Given the description of an element on the screen output the (x, y) to click on. 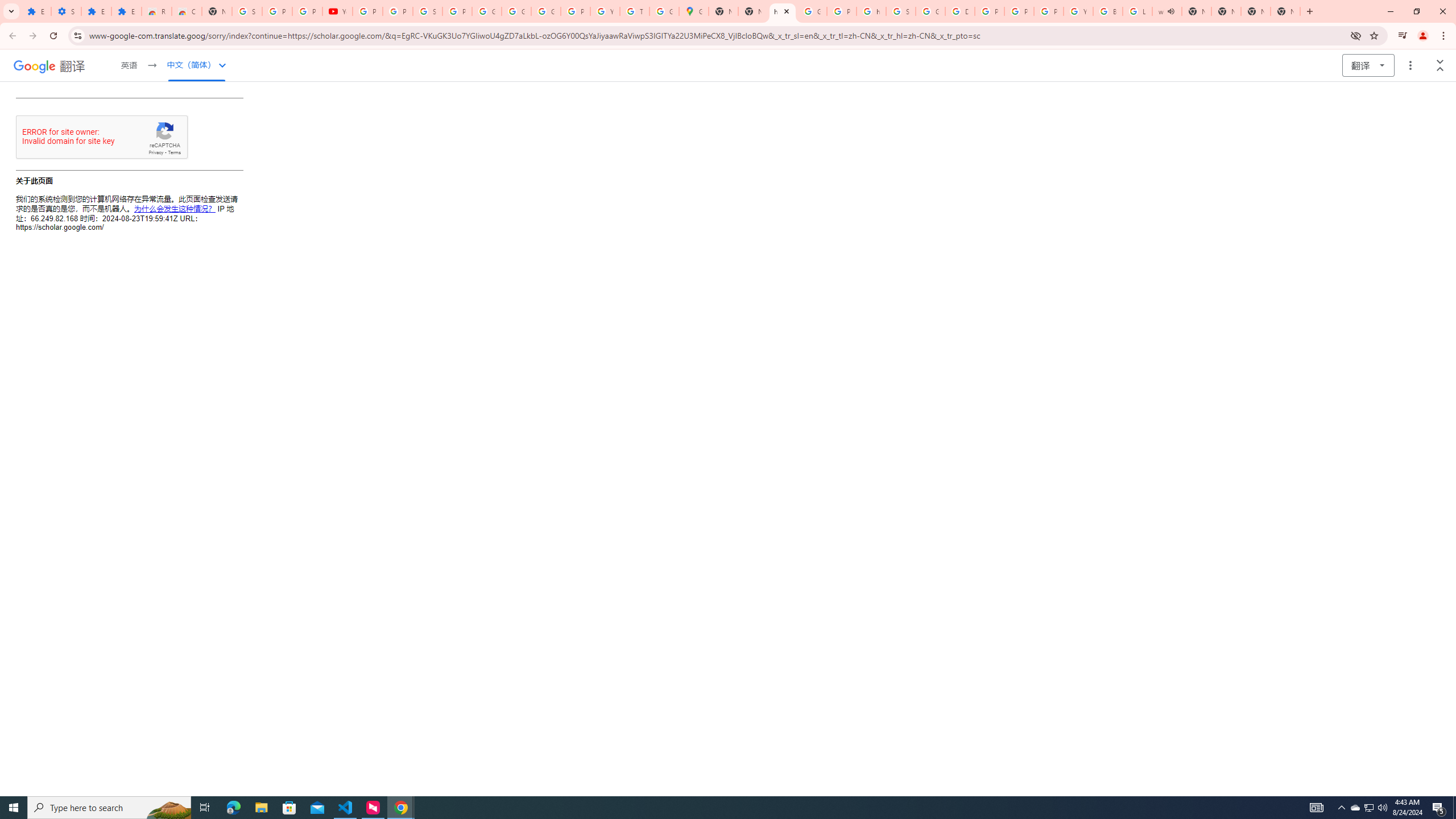
New Tab (1255, 11)
Reviews: Helix Fruit Jump Arcade Game (156, 11)
Chrome Web Store - Themes (185, 11)
Sign in - Google Accounts (900, 11)
New Tab (216, 11)
